Given the description of an element on the screen output the (x, y) to click on. 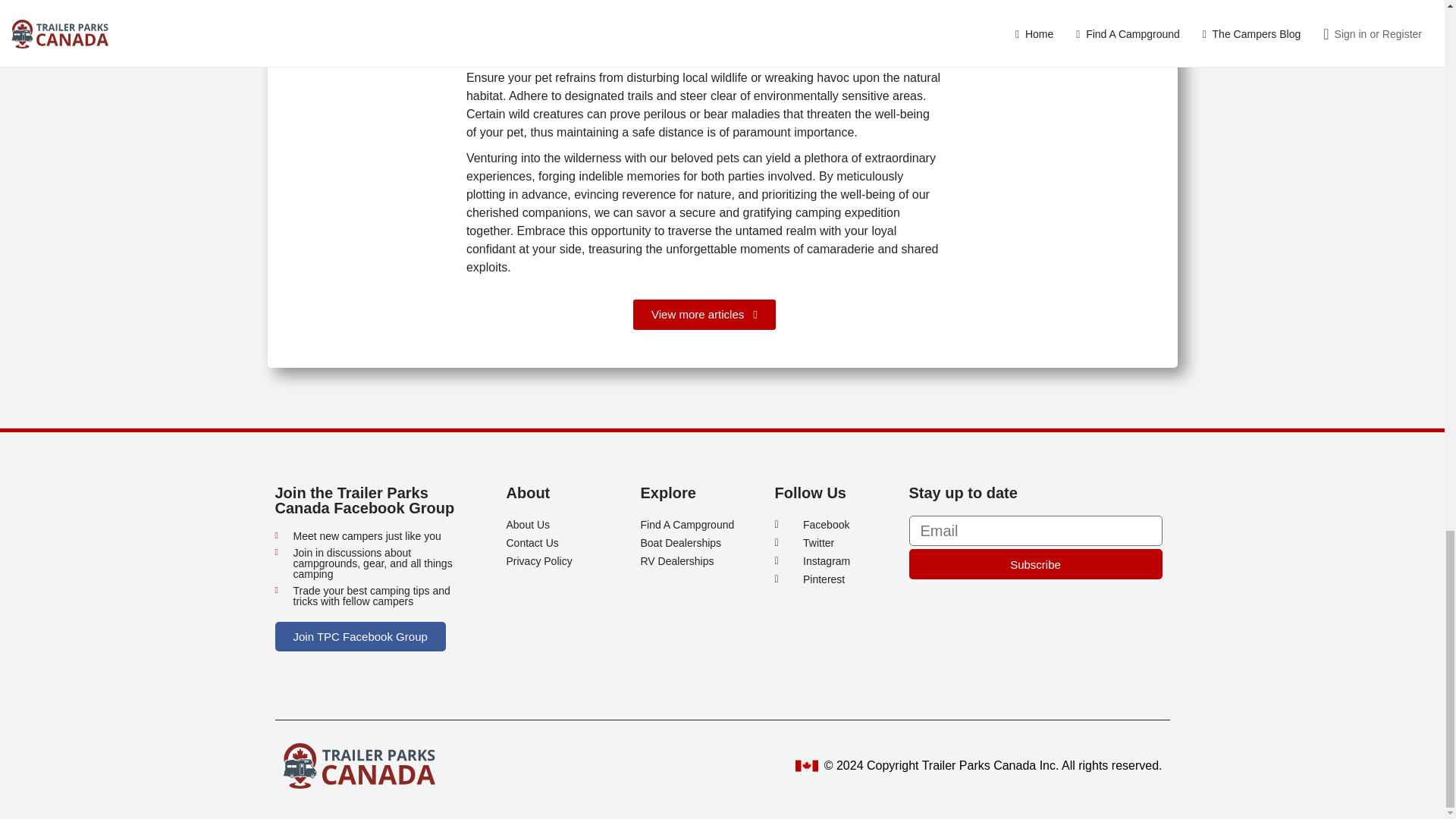
Instagram (833, 561)
Twitter (833, 542)
Pinterest (833, 579)
Find A Campground (699, 524)
Facebook (833, 524)
Boat Dealerships (699, 542)
Privacy Policy (566, 561)
About Us (566, 524)
Subscribe (1034, 563)
Contact Us (566, 542)
View more articles (704, 314)
RV Dealerships (699, 561)
Join TPC Facebook Group (360, 636)
